Given the description of an element on the screen output the (x, y) to click on. 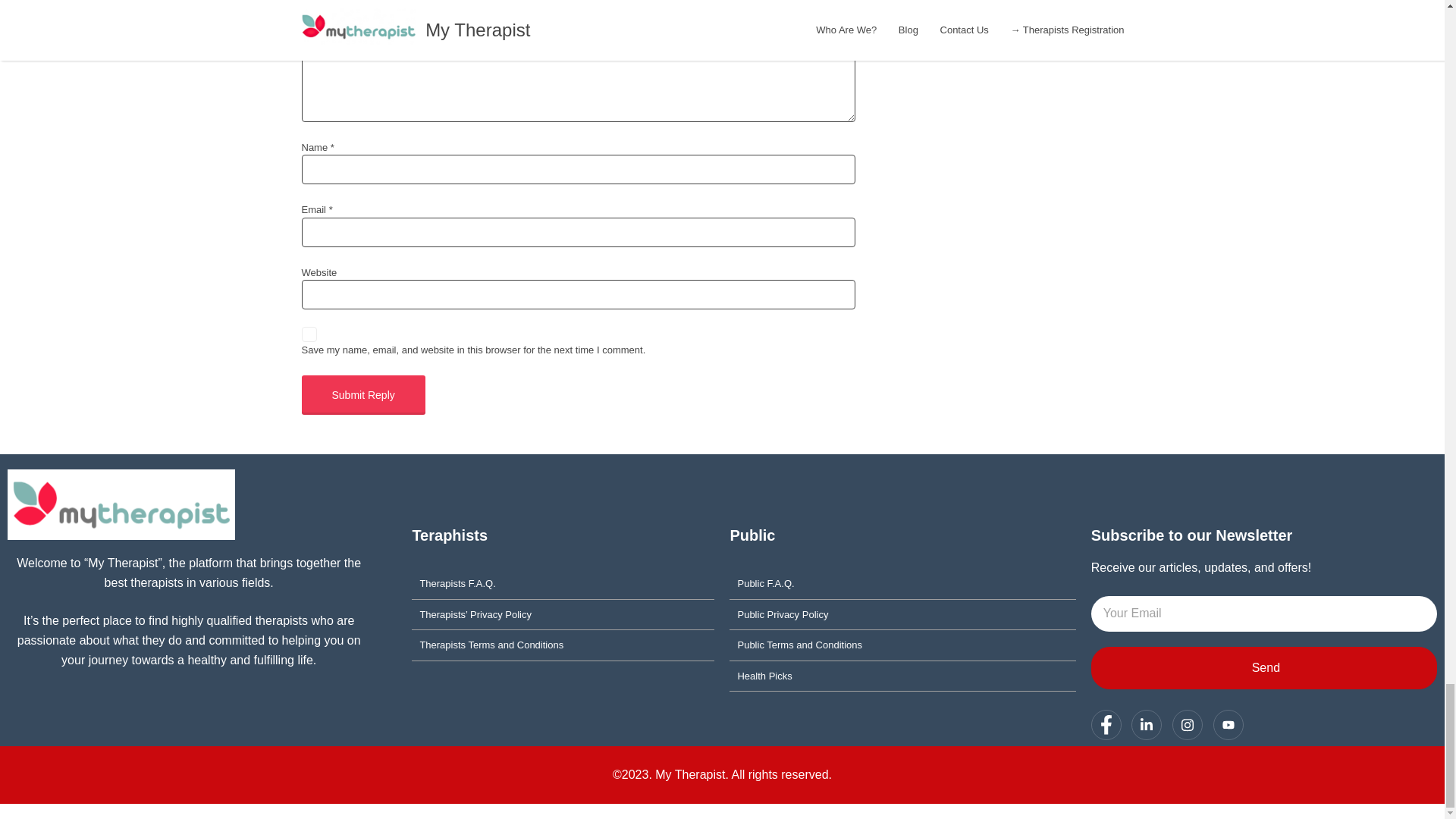
Public F.A.Q. (902, 583)
Send (1263, 668)
Therapists F.A.Q. (563, 583)
Public Privacy Policy (902, 614)
Therapists Terms and Conditions (563, 644)
yes (309, 334)
Submit Reply (363, 394)
Submit Reply (363, 394)
Public Terms and Conditions (902, 644)
Health Picks (902, 676)
